Given the description of an element on the screen output the (x, y) to click on. 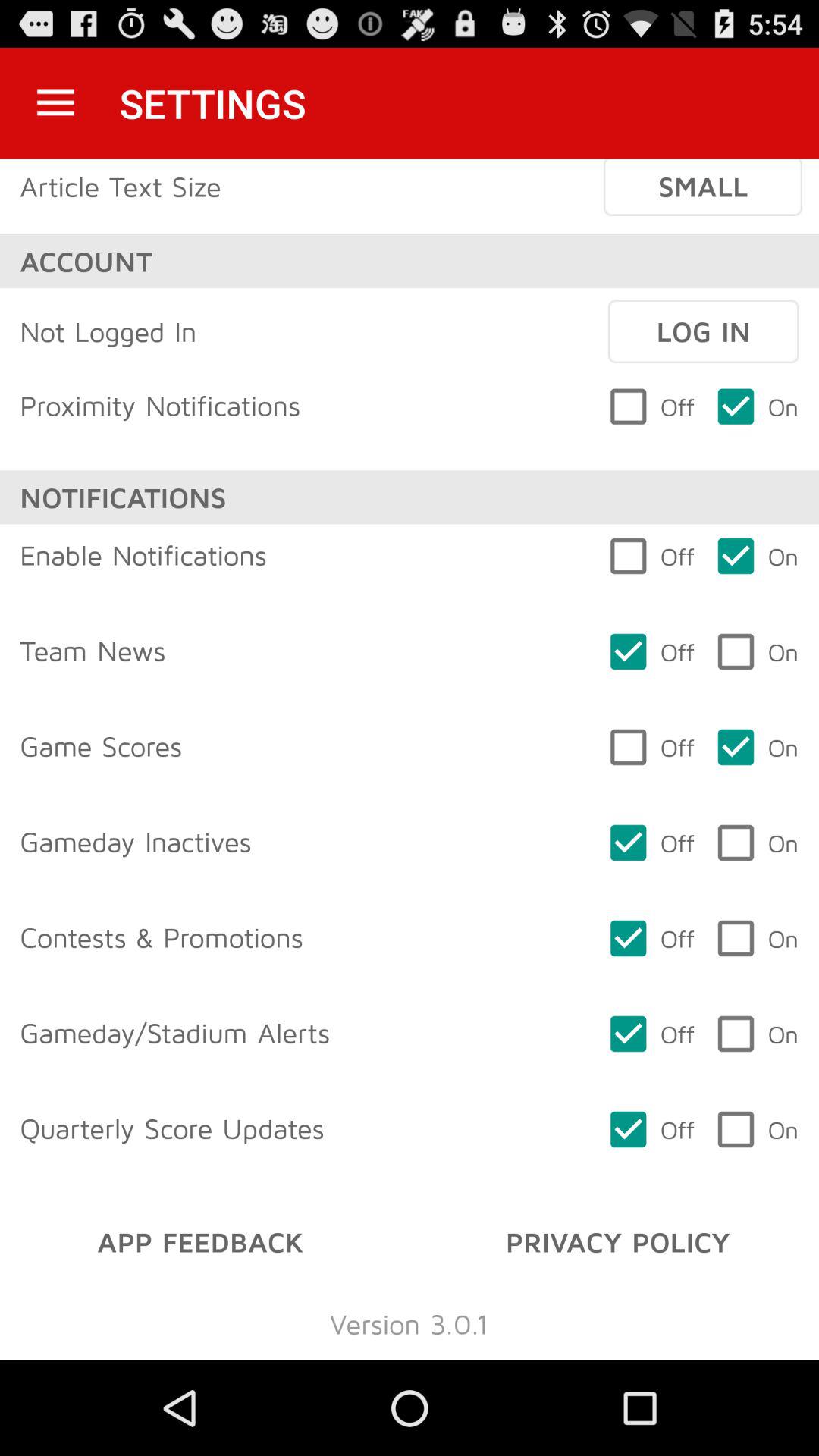
choose icon above the off item (703, 331)
